Given the description of an element on the screen output the (x, y) to click on. 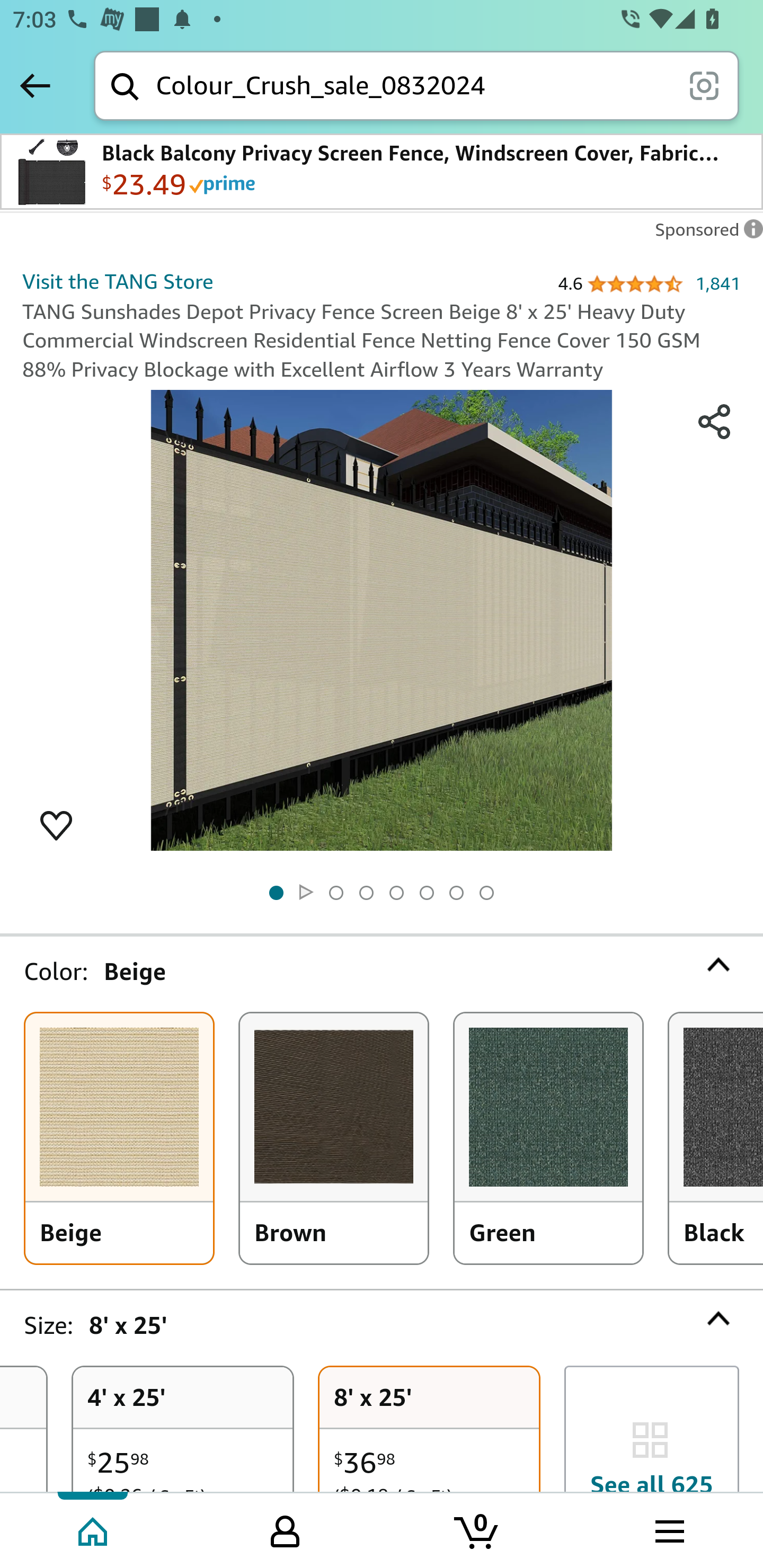
Back (35, 85)
Search Search Colour_Crush_sale_0832024 scan it (416, 85)
scan it (704, 85)
Leave feedback on Sponsored ad Sponsored  (703, 234)
Visit the TANG Store (118, 281)
Heart to save an item to your default list (56, 824)
Beige (118, 1137)
Brown (333, 1137)
Green (548, 1137)
Black (716, 1137)
Home Tab 1 of 4 (94, 1529)
Your Amazon.com Tab 2 of 4 (285, 1529)
Cart 0 item Tab 3 of 4 0 (477, 1529)
Browse menu Tab 4 of 4 (668, 1529)
